Given the description of an element on the screen output the (x, y) to click on. 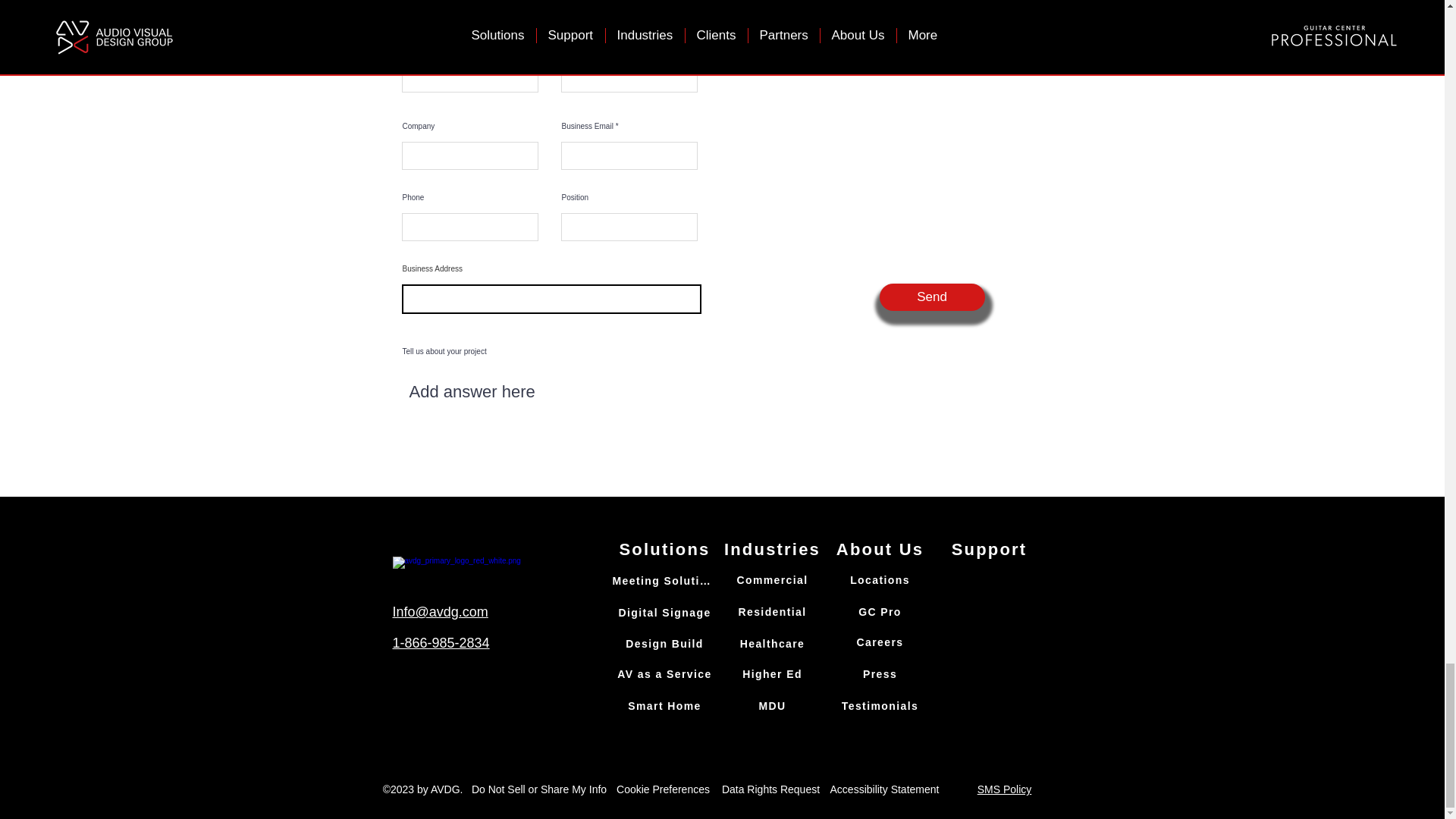
1-866-985-2834 (441, 642)
Send (932, 297)
